Given the description of an element on the screen output the (x, y) to click on. 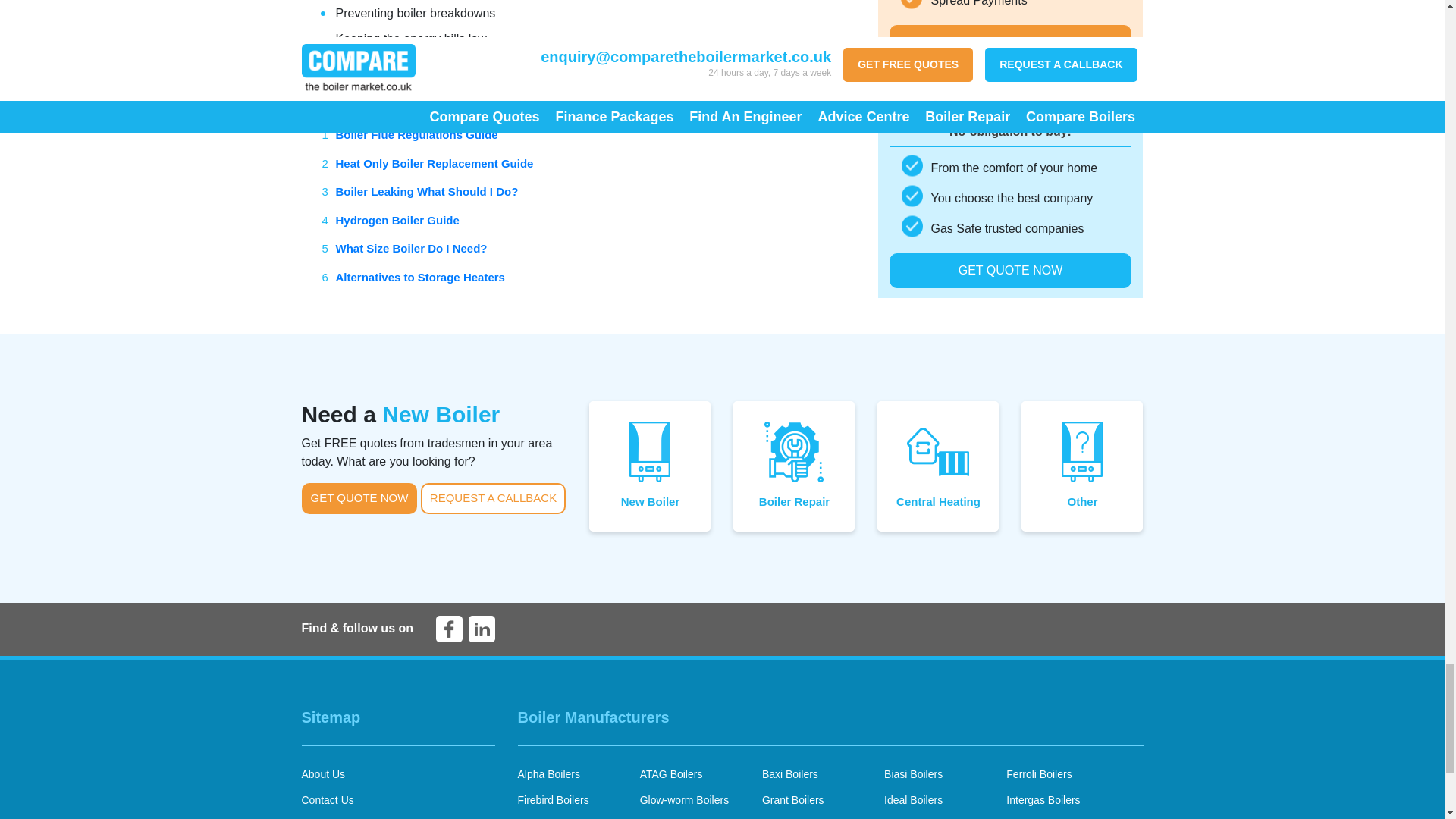
GET QUOTE NOW (359, 498)
What Size Boiler Do I Need? (410, 247)
Boiler Flue Regulations Guide (415, 133)
Alternatives to Storage Heaters (418, 277)
Alternatives to Storage Heaters (418, 277)
Hydrogen Boiler Guide (396, 219)
What Size Boiler Do I Need? (410, 247)
Boiler Leaking What Should I Do? (426, 191)
Boiler Repair (794, 466)
Boiler Leaking What Should I Do? (426, 191)
Heat Only Boiler Replacement Guide (433, 163)
Central Heating (938, 466)
REQUEST A CALLBACK (493, 498)
Boiler Flue Regulations Guide (415, 133)
Heat Only Boiler Replacement Guide (433, 163)
